Given the description of an element on the screen output the (x, y) to click on. 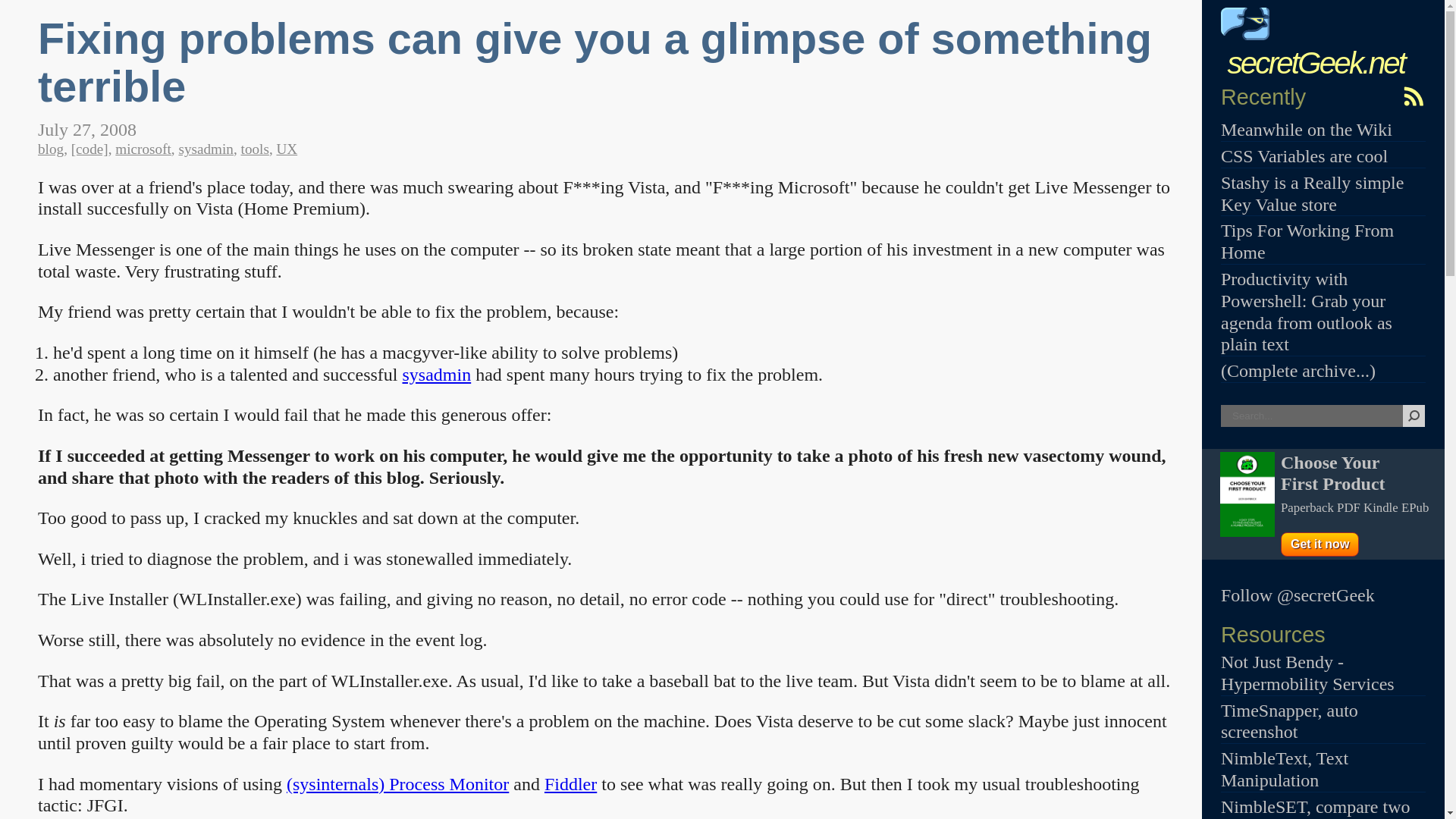
blog (50, 148)
NimbleSET, compare two lists (1315, 807)
The Venn Diagram Comparison Tool (1315, 807)
microsoft (143, 148)
Tips For Working From Home (1307, 241)
CSS Variables are cool (1304, 156)
sysadmin (204, 148)
Meanwhile on the Wiki (1306, 129)
UX (286, 148)
